Given the description of an element on the screen output the (x, y) to click on. 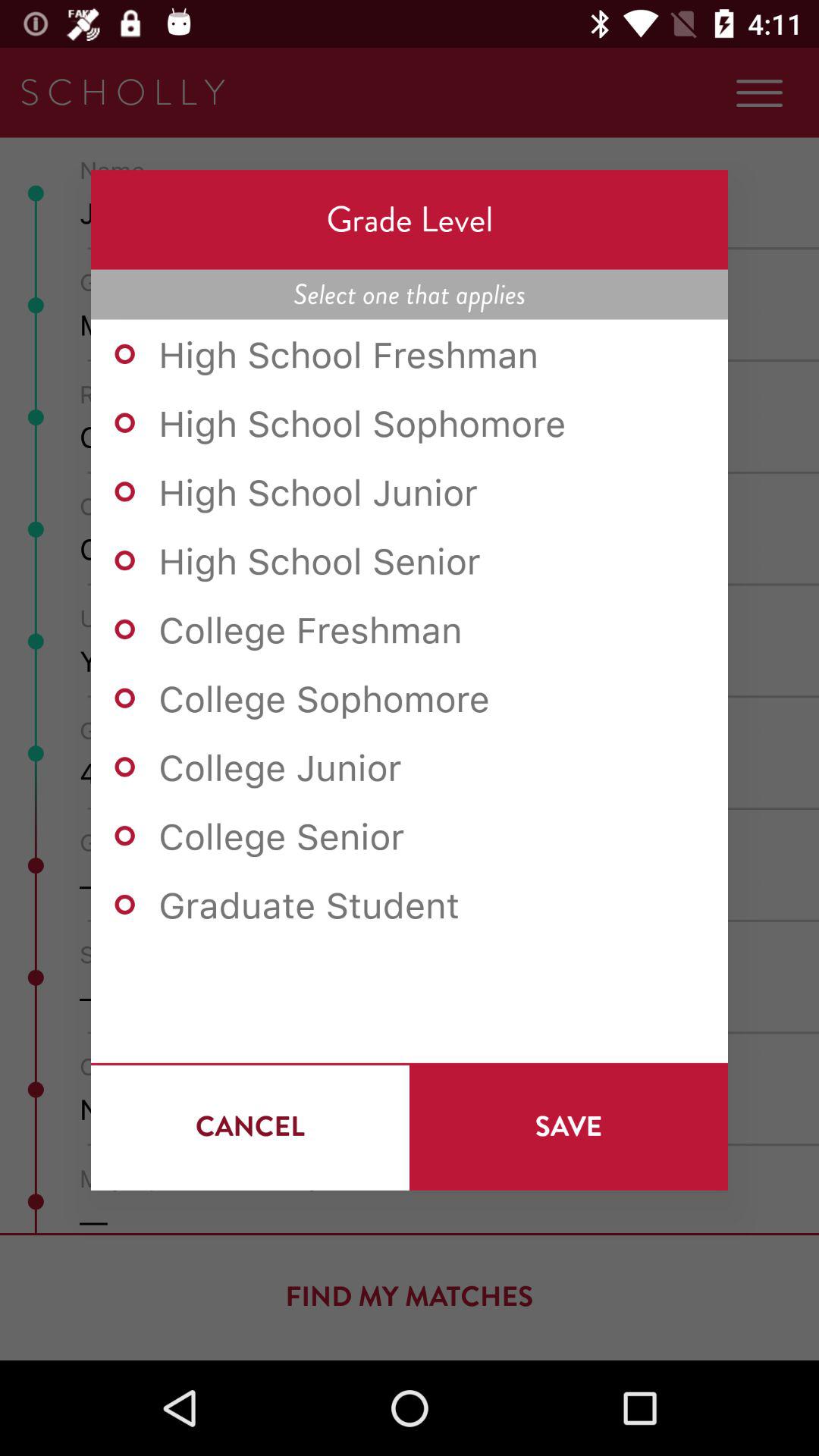
turn off icon at the bottom left corner (250, 1126)
